Given the description of an element on the screen output the (x, y) to click on. 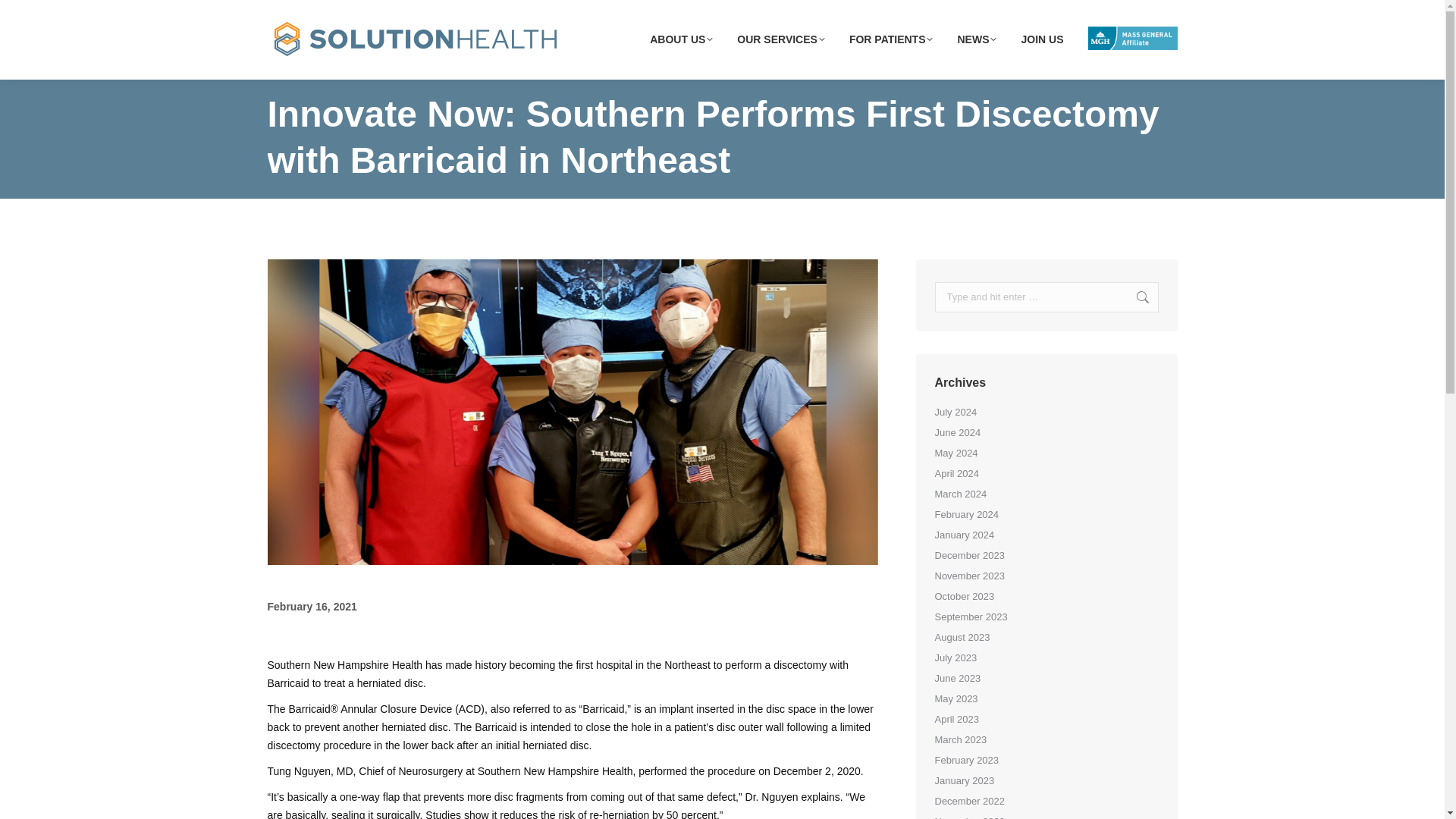
ABOUT US (681, 38)
Go! (1134, 296)
NEWS (976, 38)
JOIN US (1041, 38)
3:43 pm (311, 606)
OUR SERVICES (781, 38)
FOR PATIENTS (891, 38)
Go! (1134, 296)
